Given the description of an element on the screen output the (x, y) to click on. 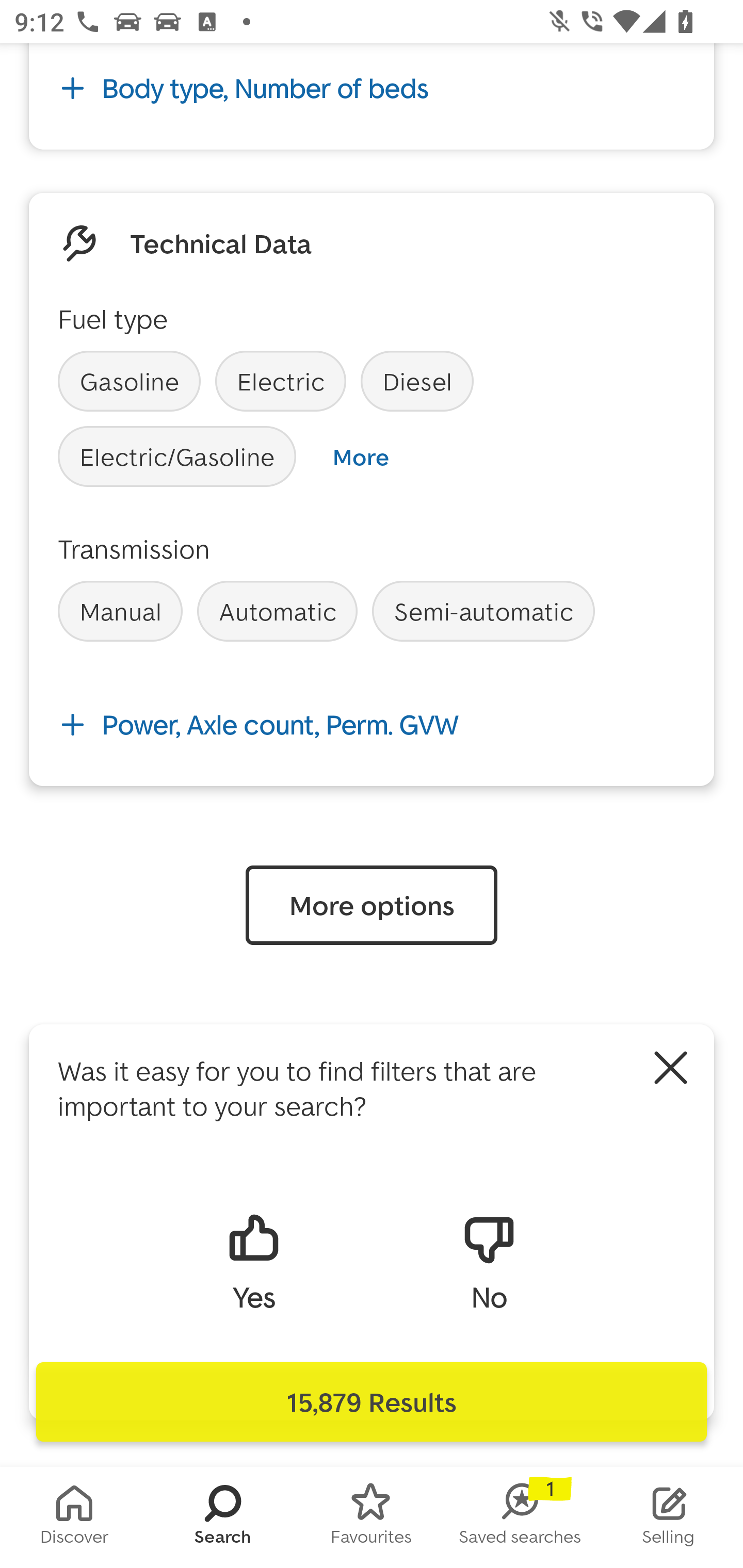
Body type, Number of beds (371, 88)
Technical Data (221, 242)
Fuel type (112, 318)
Gasoline (128, 380)
Electric (280, 380)
Diesel (417, 380)
Electric/Gasoline (176, 456)
More (360, 456)
Transmission (133, 548)
Manual (119, 610)
Automatic (276, 610)
Semi-automatic (483, 610)
Power, Axle count, Perm. GVW (371, 725)
More options (371, 905)
Yes (253, 1261)
No (489, 1261)
15,879 Results (371, 1401)
HOMESCREEN Discover (74, 1517)
SEARCH Search (222, 1517)
FAVORITES Favourites (371, 1517)
SAVED_SEARCHES Saved searches 1 (519, 1517)
STOCK_LIST Selling (668, 1517)
